Given the description of an element on the screen output the (x, y) to click on. 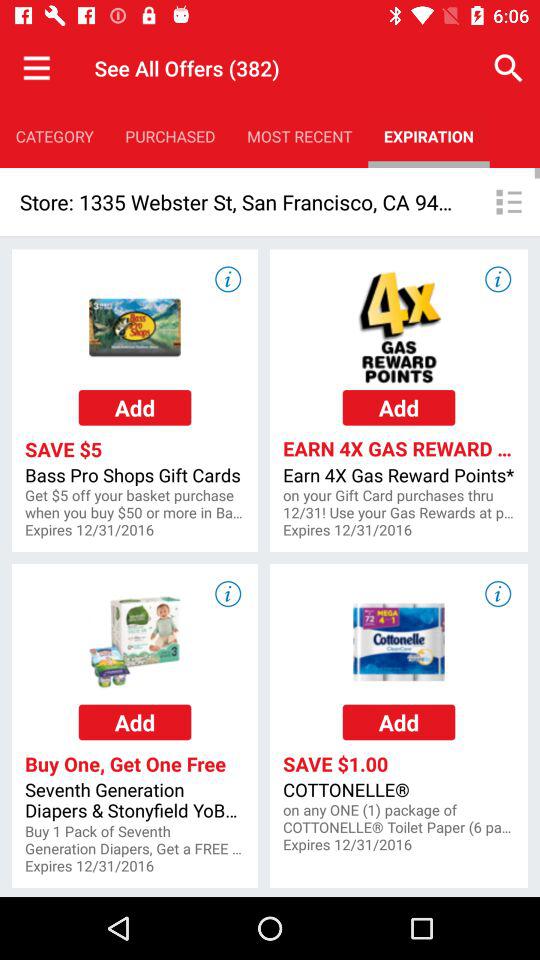
scroll to store 1335 webster item (237, 201)
